Given the description of an element on the screen output the (x, y) to click on. 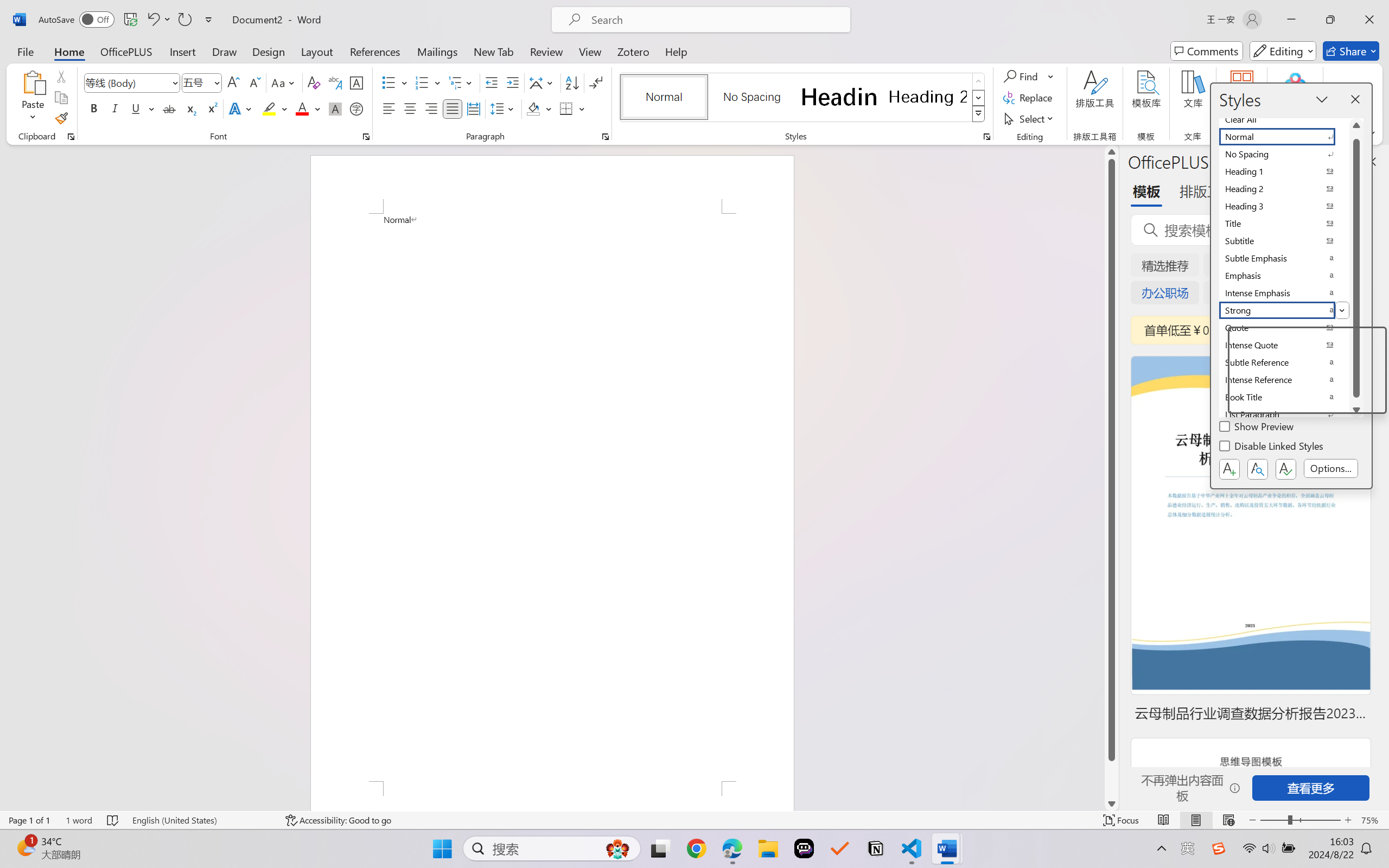
Find (1029, 75)
Underline (135, 108)
Quote (1283, 327)
